Given the description of an element on the screen output the (x, y) to click on. 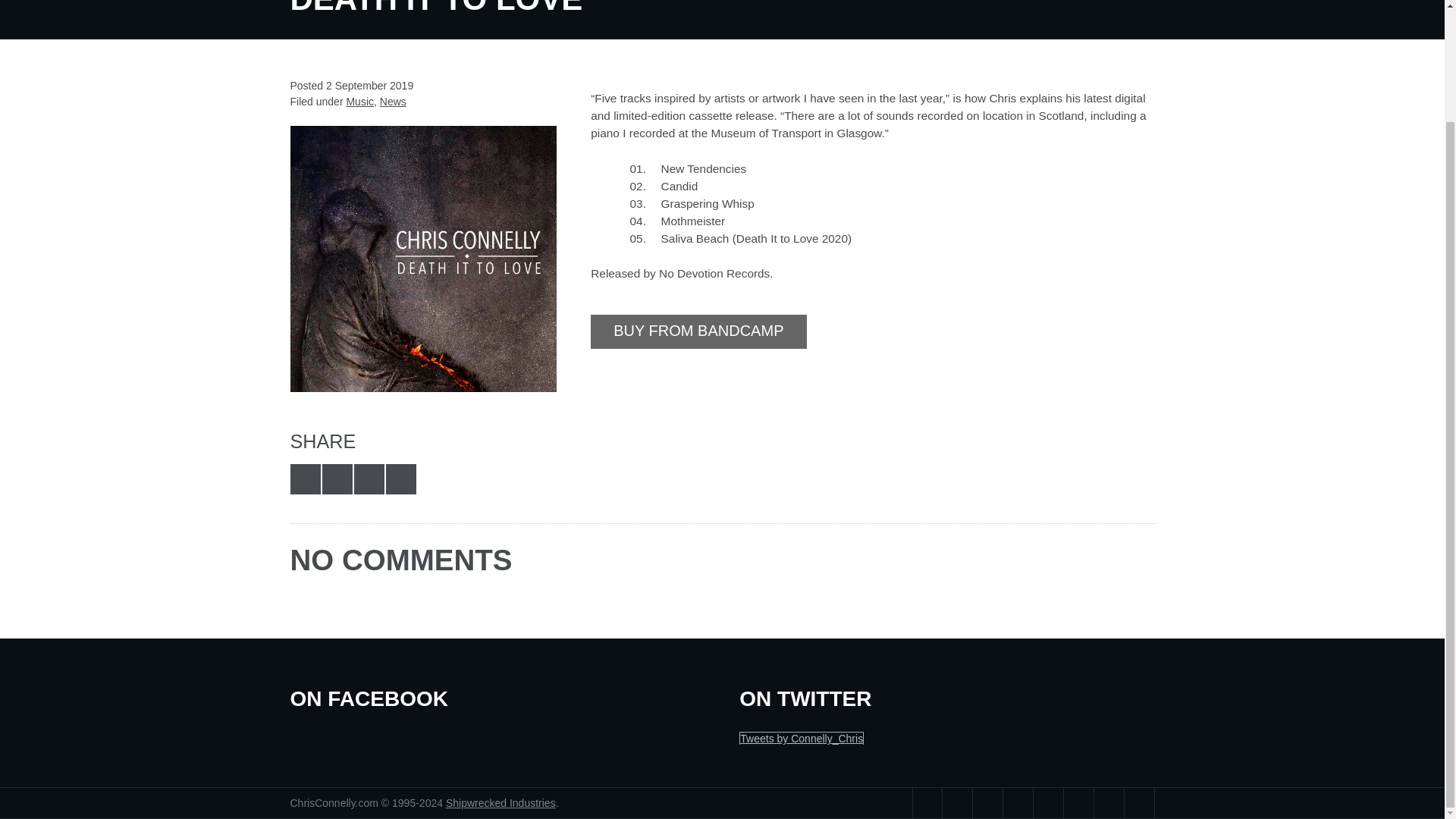
BUY FROM BANDCAMP (698, 331)
News (393, 101)
SoundCloud (1077, 802)
Bandcamp (1047, 802)
Facebook (957, 802)
Facebook (957, 802)
Share on Facebook (336, 479)
Amazon Music (1108, 802)
Shipwrecked Industries (500, 802)
Amazon Books (1139, 802)
Music (360, 101)
Flickr (987, 802)
Flickr (987, 802)
Vine (1017, 802)
Twitter (926, 802)
